Given the description of an element on the screen output the (x, y) to click on. 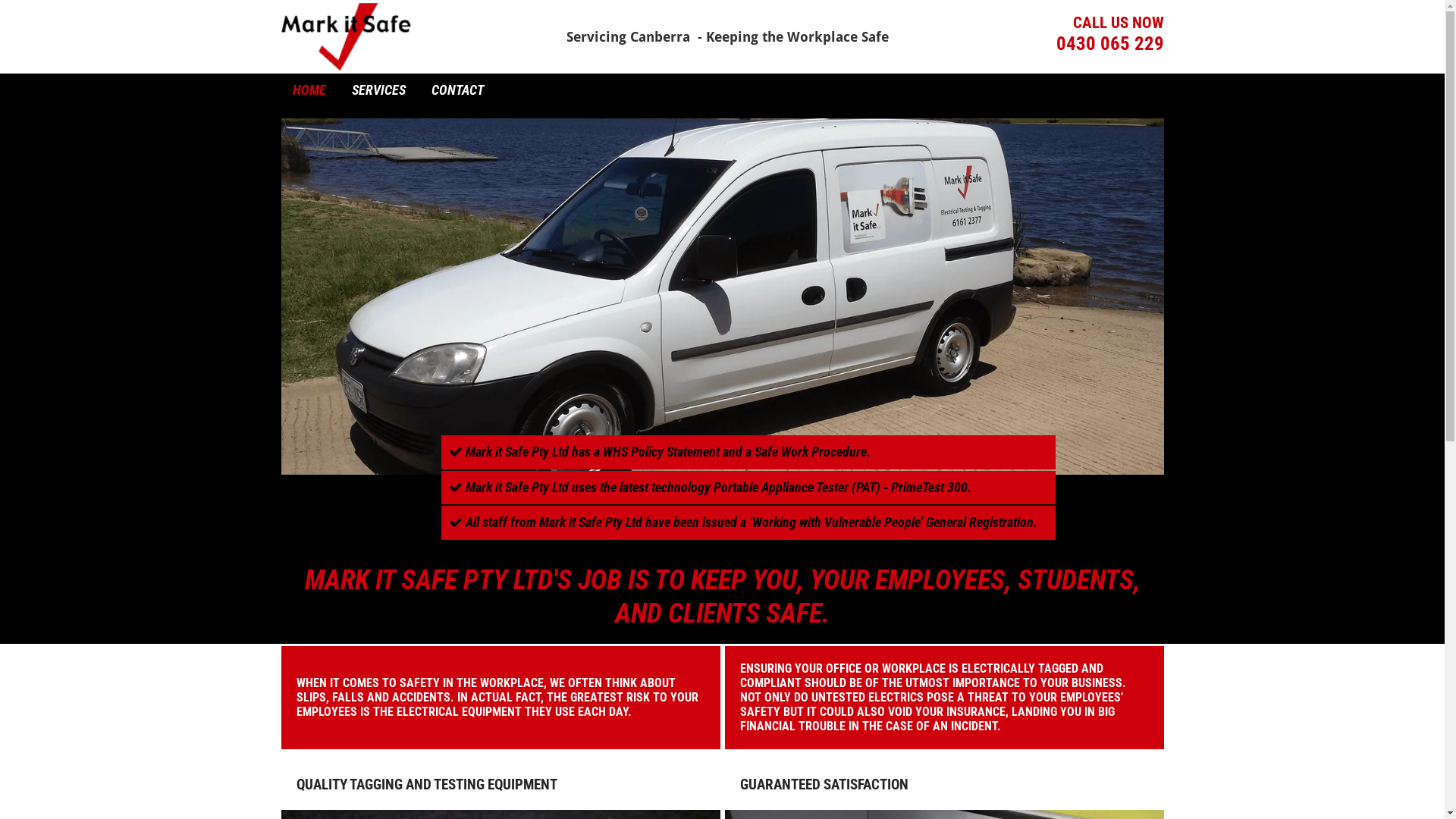
hero1 Element type: hover (721, 296)
0430 065 229 Element type: text (1109, 43)
Mark It Safe Element type: hover (345, 36)
SERVICES Element type: text (378, 90)
CONTACT Element type: text (456, 90)
HOME Element type: text (309, 90)
